Given the description of an element on the screen output the (x, y) to click on. 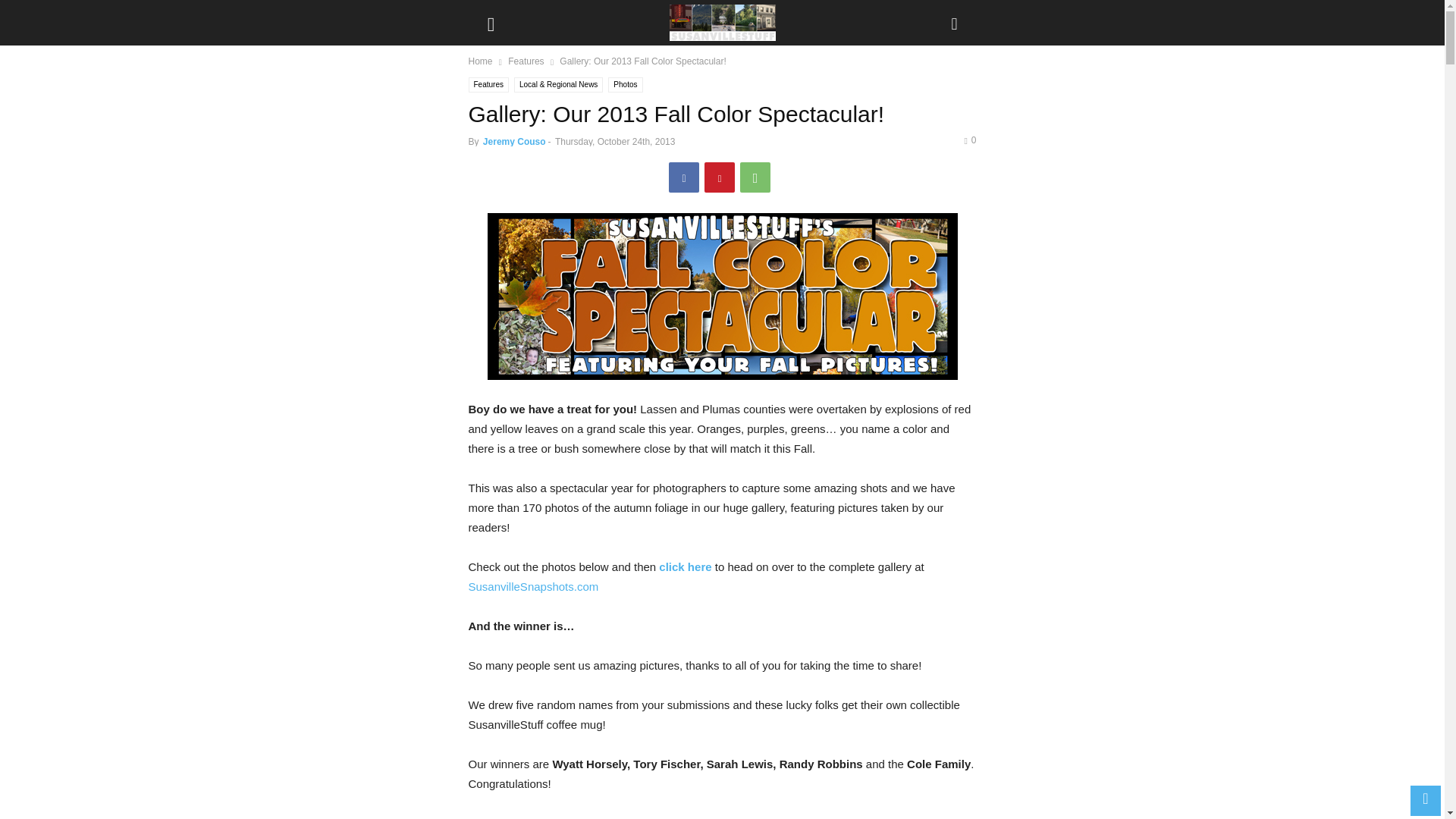
Features (488, 84)
Pinterest (719, 177)
SusanvilleSnapshots.com (533, 585)
Features (525, 61)
View all posts in Features (525, 61)
0 (969, 140)
Facebook (683, 177)
Photos (625, 84)
click here (685, 566)
Jeremy Couso (514, 141)
WhatsApp (754, 177)
Home (480, 61)
